Given the description of an element on the screen output the (x, y) to click on. 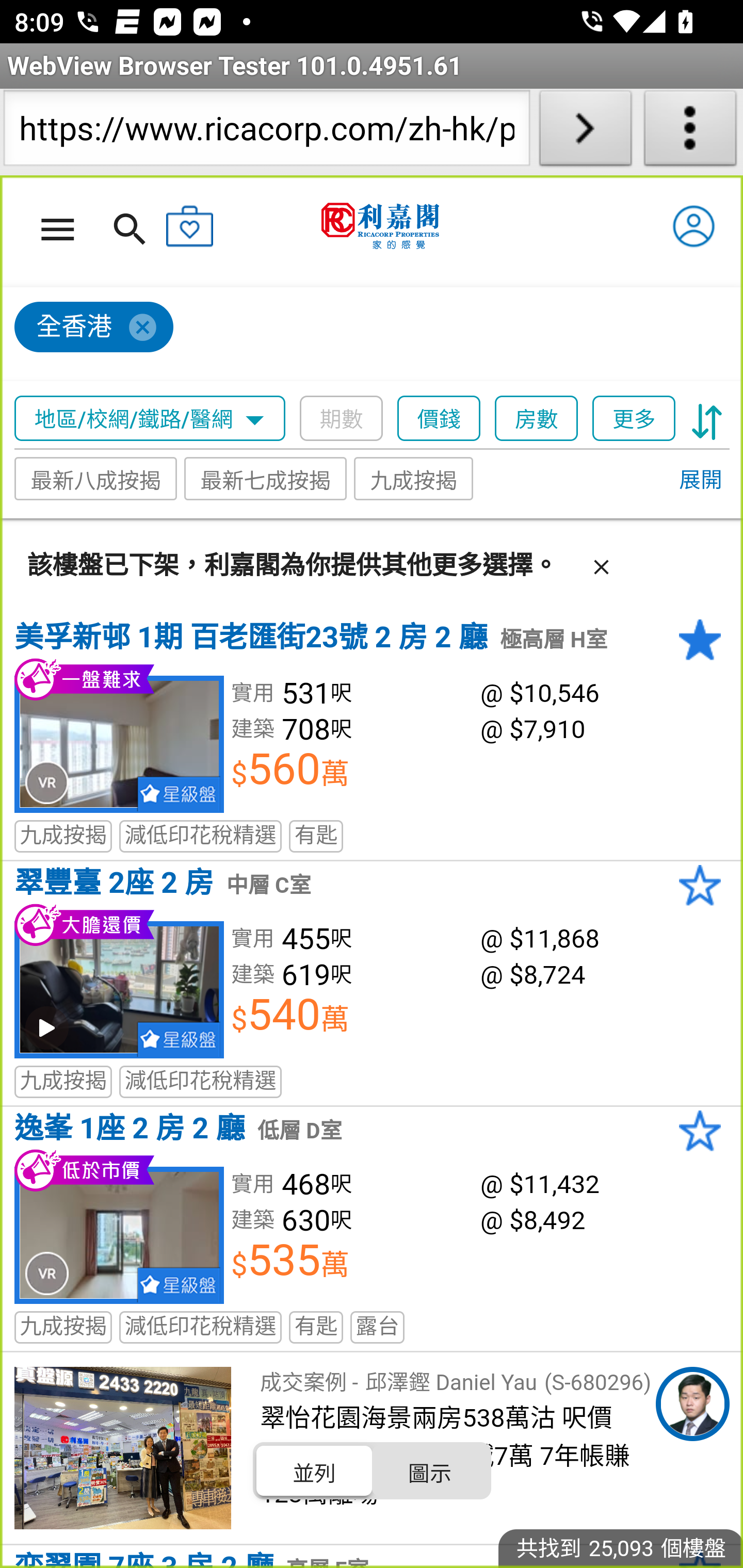
Load URL (585, 132)
About WebView (690, 132)
全香港 (94, 327)
地區/校網/鐵路/醫網 (150, 418)
期數 (341, 418)
價錢 (439, 418)
房數 (536, 418)
更多 (634, 418)
sort (706, 418)
最新八成按揭 (96, 478)
最新七成按揭 (266, 478)
九成按揭 (413, 478)
展開 (699, 481)
clear (600, 563)
Daniel Yau (692, 1404)
並列 (314, 1470)
圖示 (429, 1470)
